Given the description of an element on the screen output the (x, y) to click on. 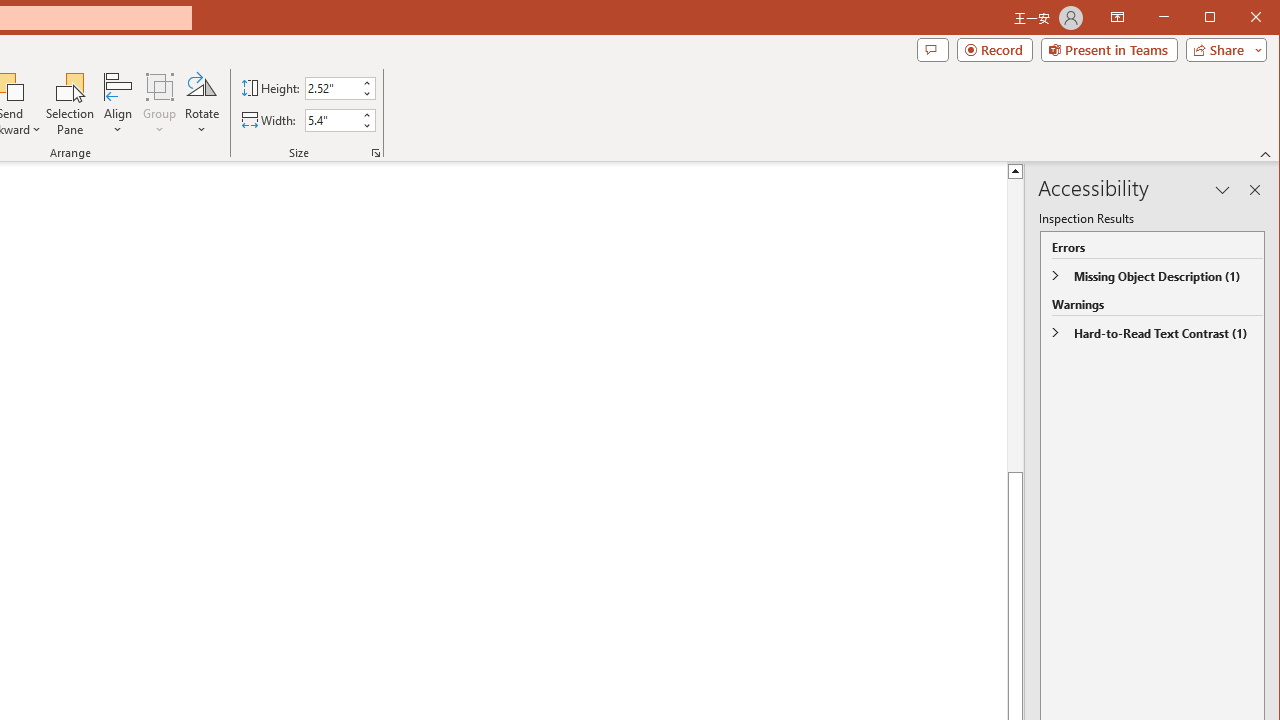
Align (118, 104)
Less (366, 125)
Shape Width (331, 120)
More (366, 115)
Maximize (1238, 18)
Shape Height (331, 88)
Selection Pane... (70, 104)
Group (159, 104)
